Given the description of an element on the screen output the (x, y) to click on. 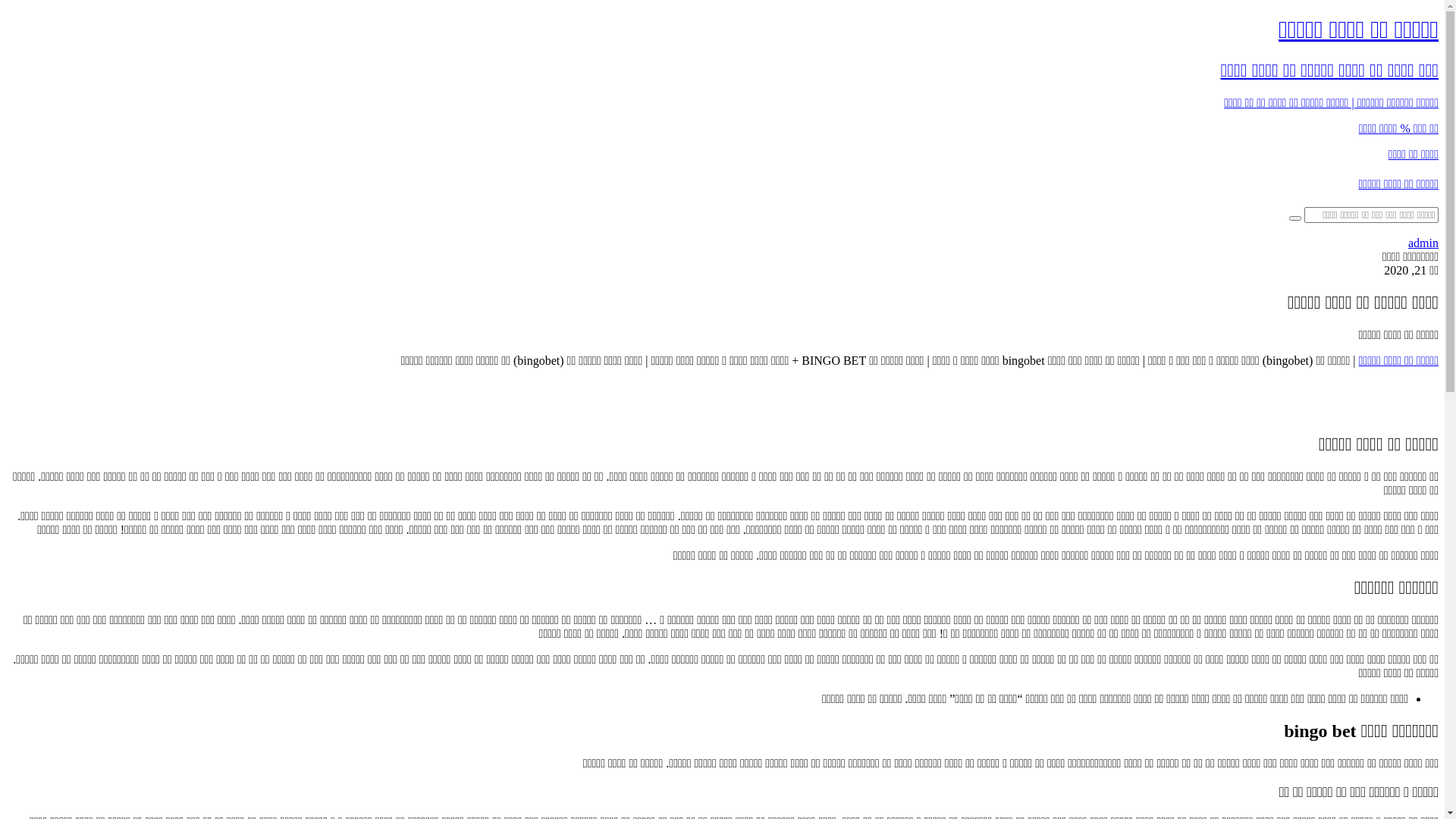
admin Element type: text (1423, 242)
